Given the description of an element on the screen output the (x, y) to click on. 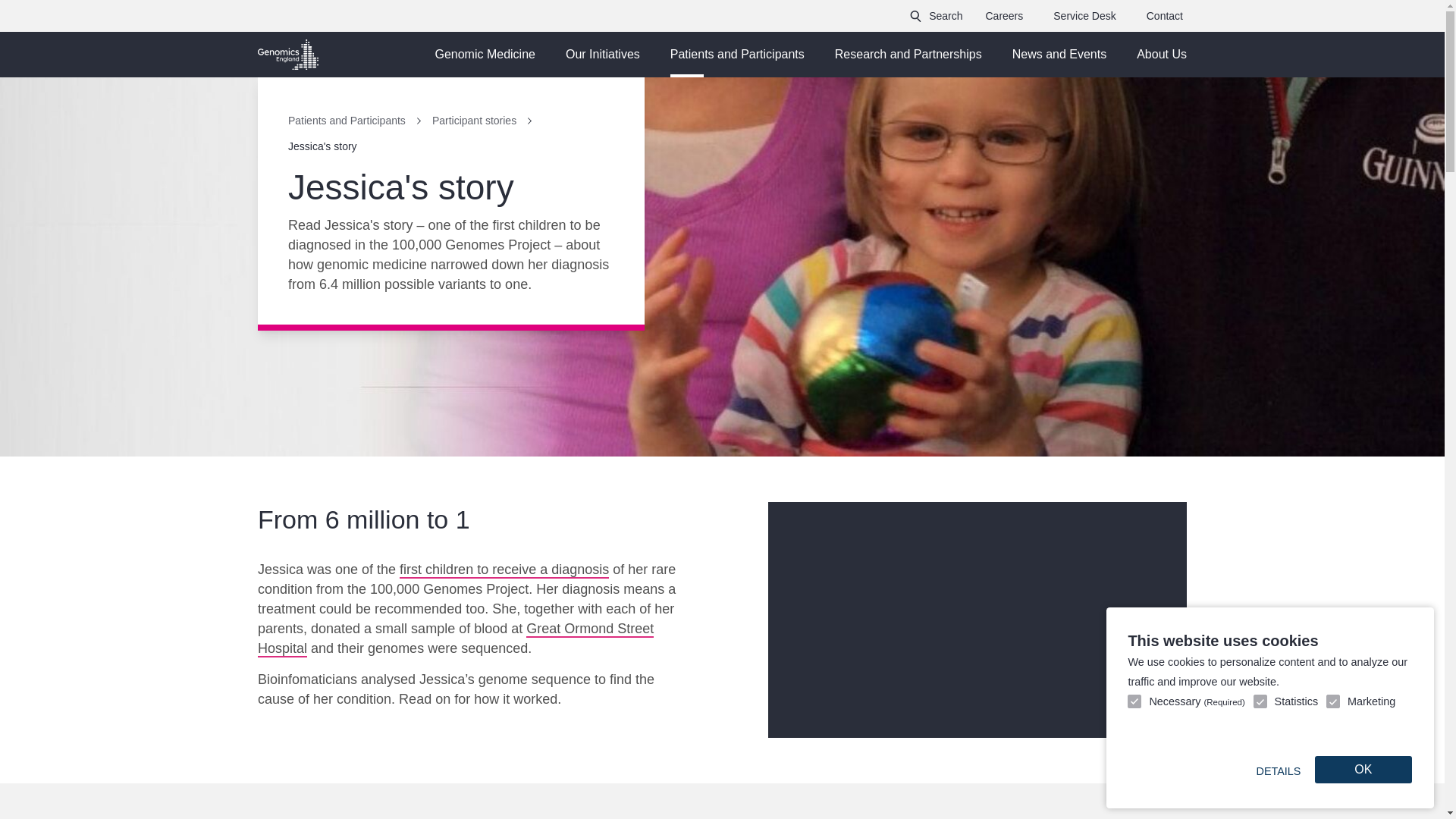
Genomics England Homepage (287, 54)
Genomic Medicine (484, 53)
Contact (1164, 15)
Contact (1164, 15)
Search (936, 15)
DETAILS (1277, 770)
Patients and Participants (737, 53)
Search (936, 15)
Our Initiatives (602, 53)
Careers (1003, 15)
Our Initiatives (602, 53)
Genomics England Homepage (287, 54)
